Given the description of an element on the screen output the (x, y) to click on. 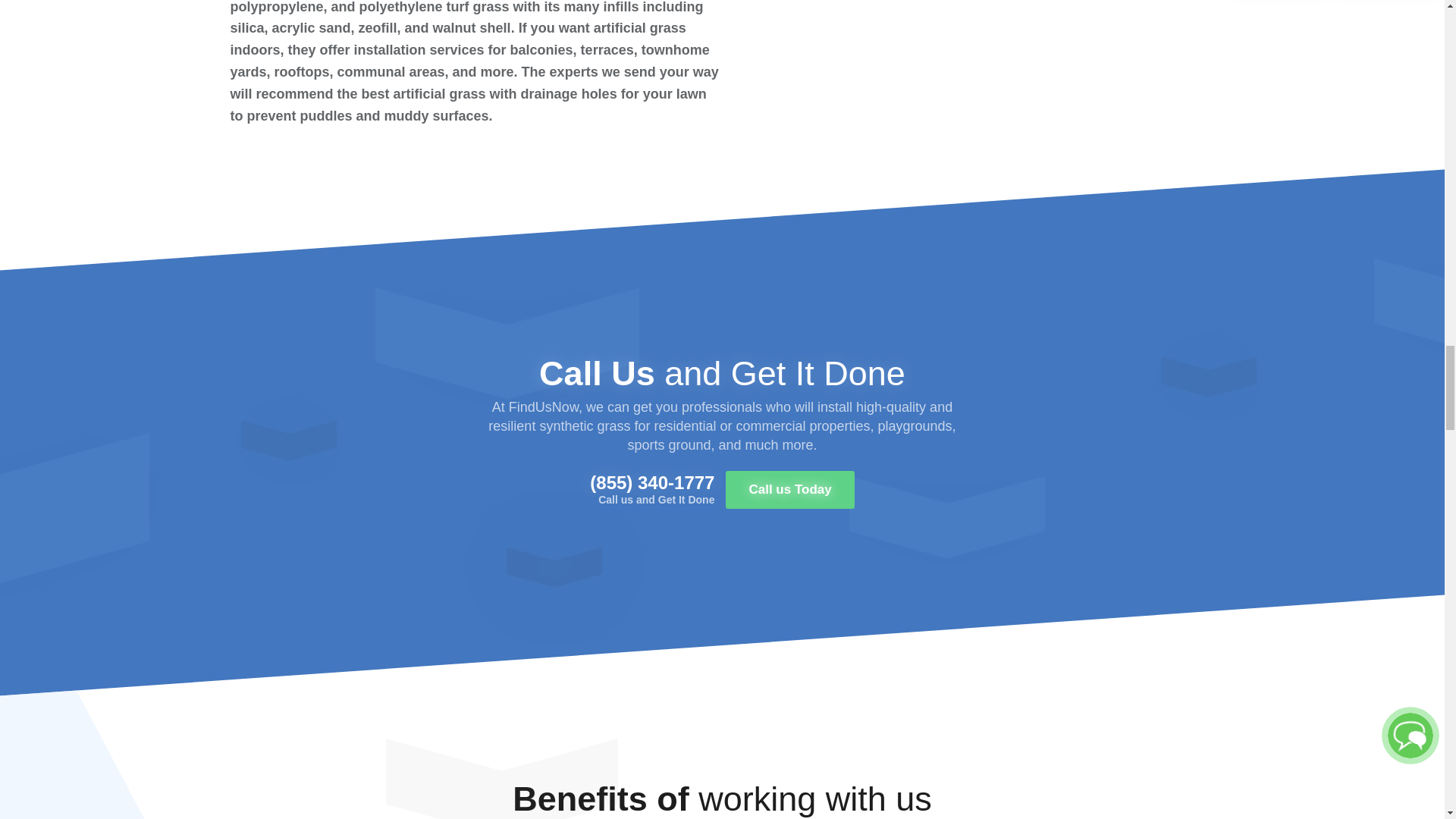
Call our specialists today (789, 489)
Call us Today (789, 489)
